Given the description of an element on the screen output the (x, y) to click on. 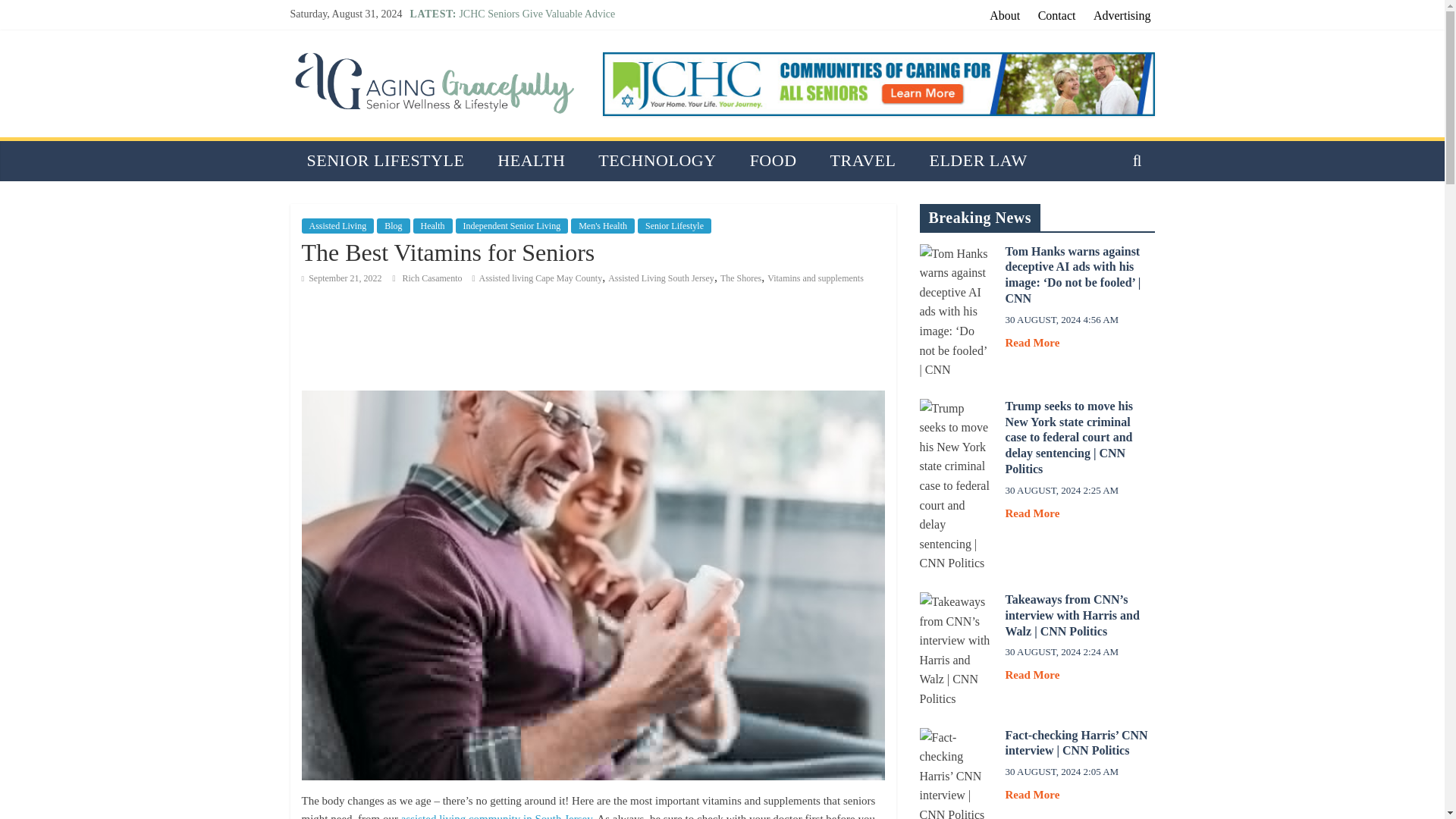
Independent Senior Living (512, 225)
Health (432, 225)
FOOD (773, 159)
assisted living community in South Jersey (496, 816)
Summer Activities for Seniors in Morris County (560, 64)
Rich Casamento (433, 277)
About (1004, 15)
SENIOR LIFESTYLE (384, 159)
Assisted living Cape May County (540, 277)
6:59 am (341, 277)
